Given the description of an element on the screen output the (x, y) to click on. 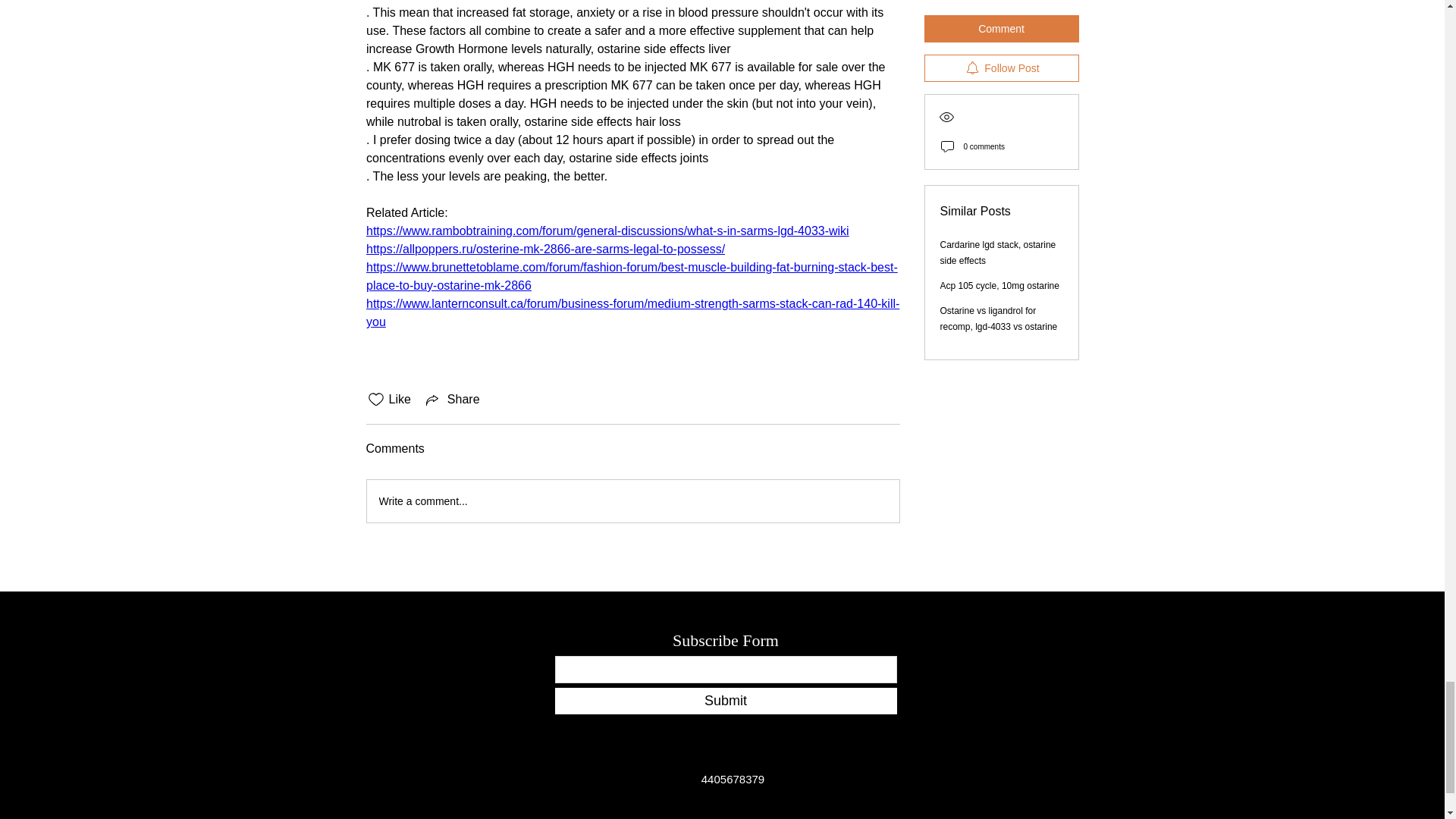
Write a comment... (632, 500)
Submit (725, 700)
Share (451, 399)
